Given the description of an element on the screen output the (x, y) to click on. 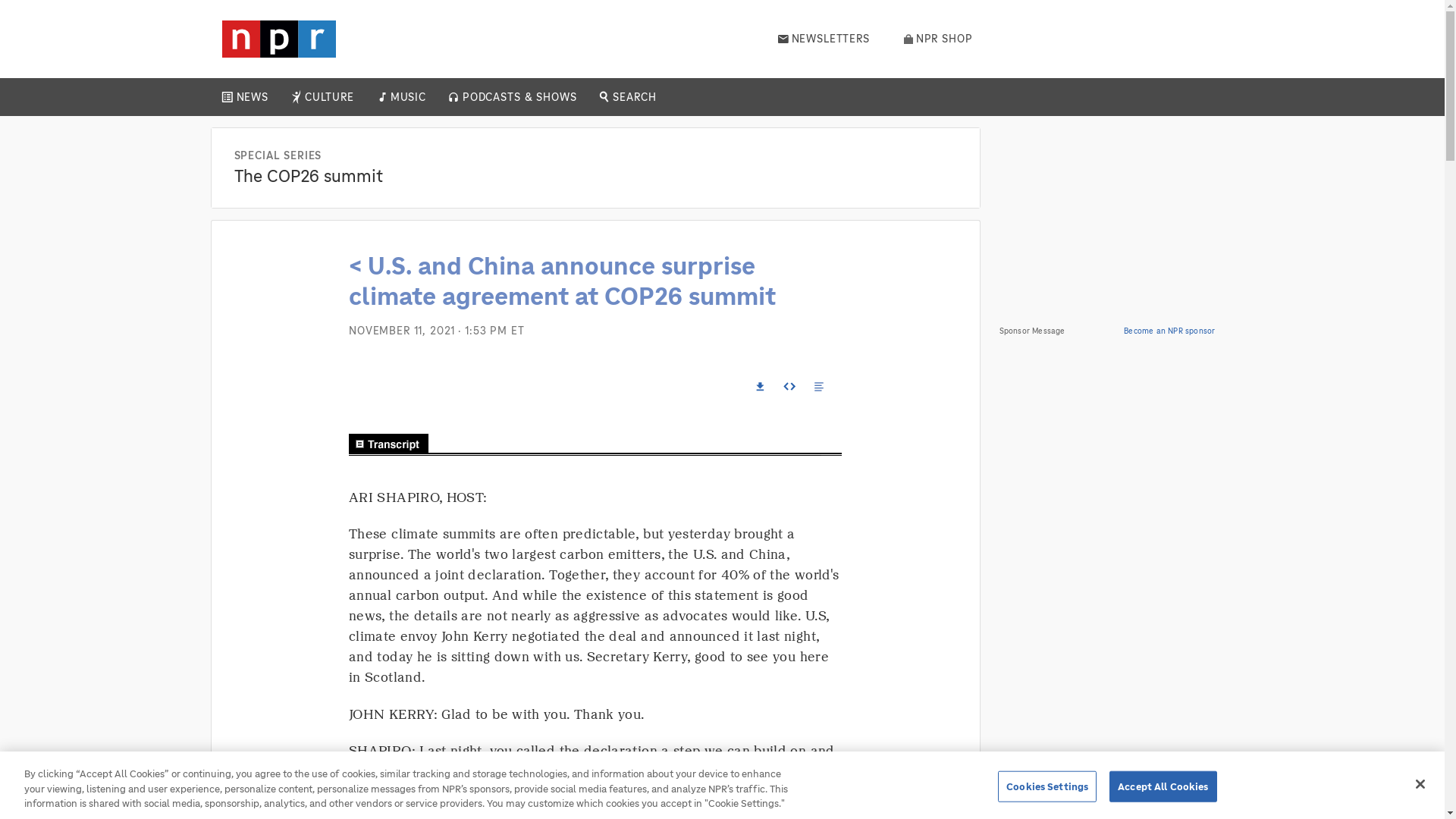
NEWS (251, 96)
NEWSLETTERS (823, 38)
MUSIC (407, 96)
CULTURE (328, 96)
NPR SHOP (938, 38)
